Given the description of an element on the screen output the (x, y) to click on. 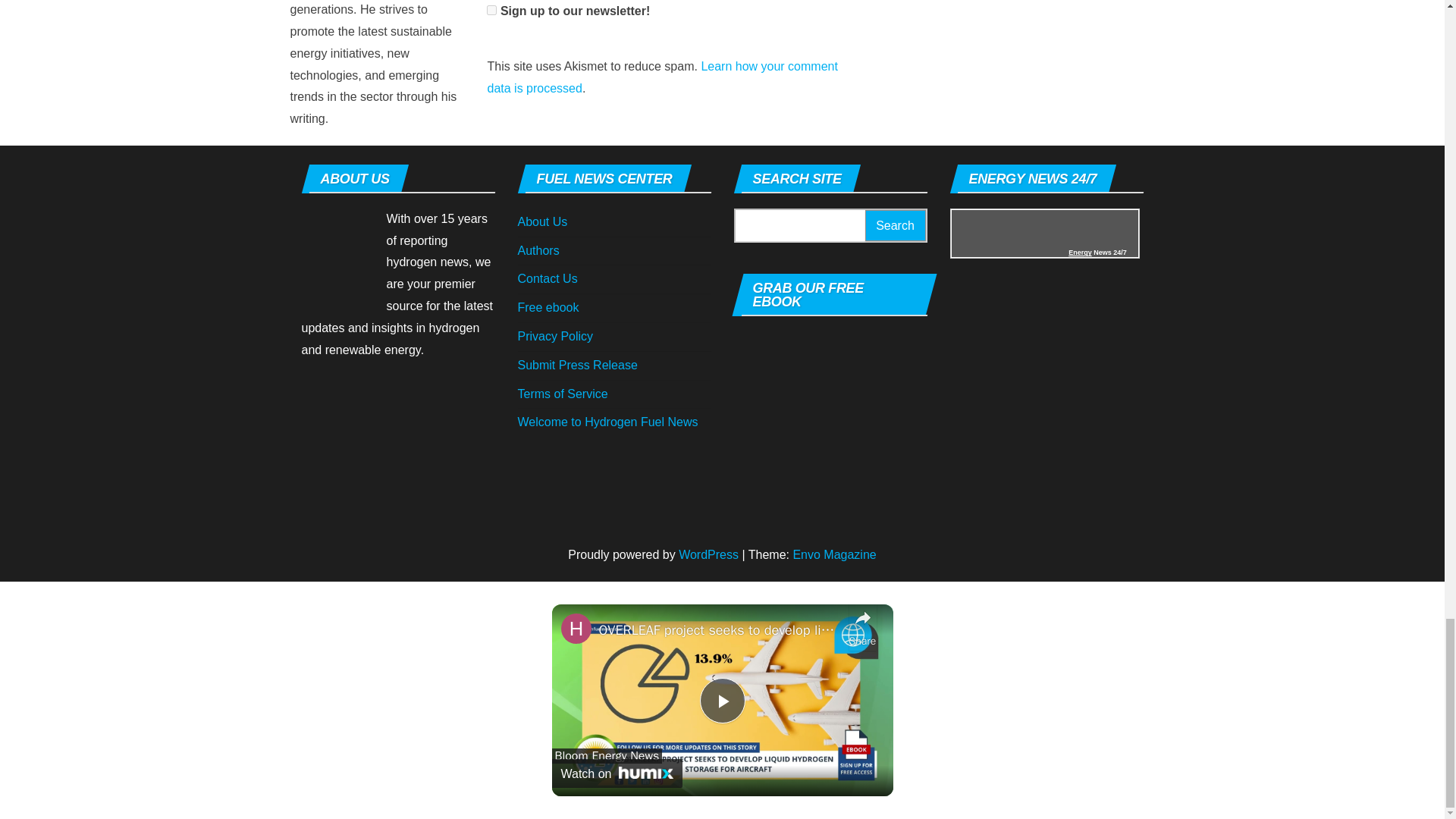
1 (491, 9)
Search (894, 224)
